Given the description of an element on the screen output the (x, y) to click on. 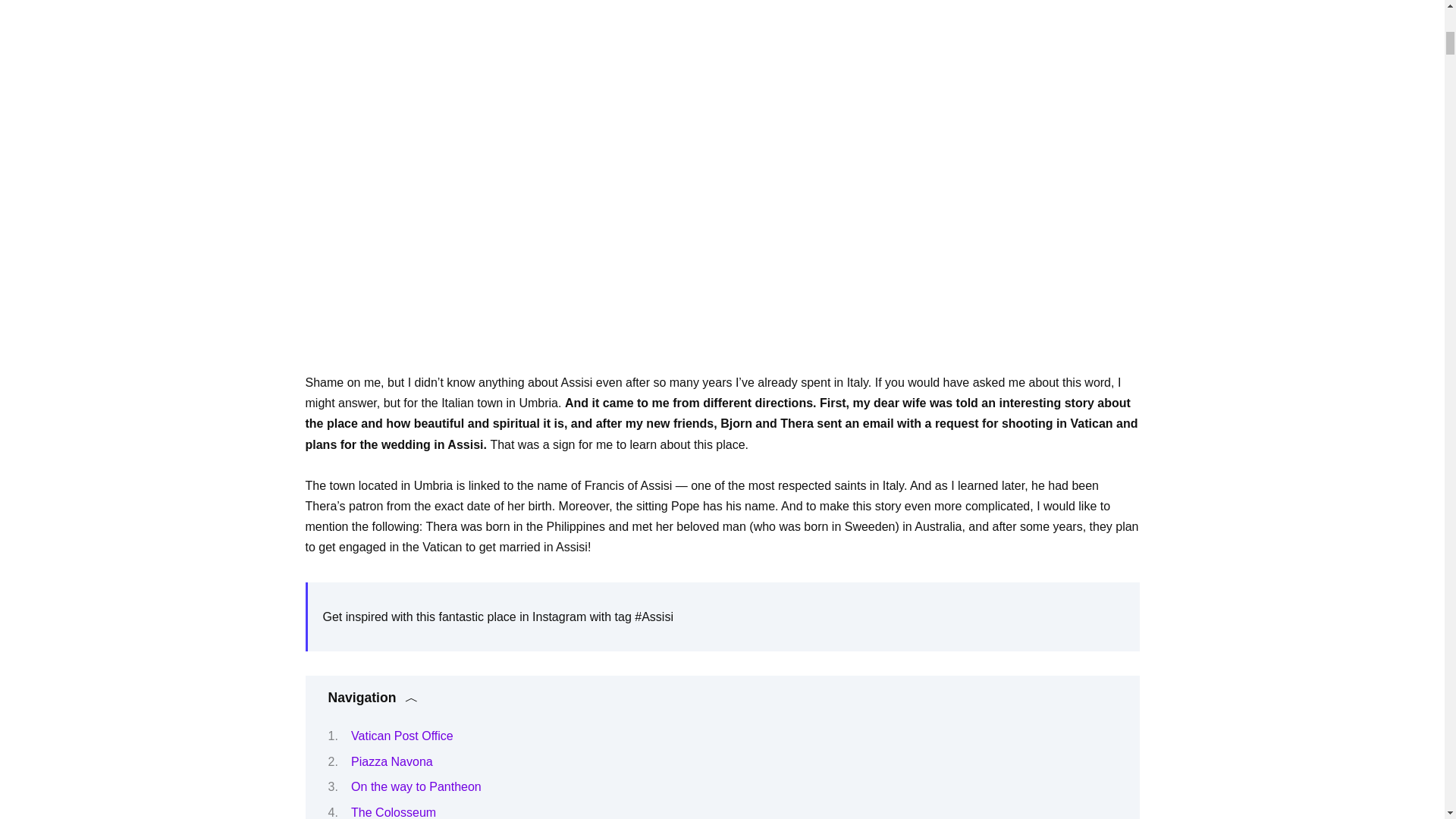
The Colosseum (392, 812)
Vatican Post Office (401, 735)
On the way to Pantheon (415, 786)
Piazza Navona (391, 761)
